Given the description of an element on the screen output the (x, y) to click on. 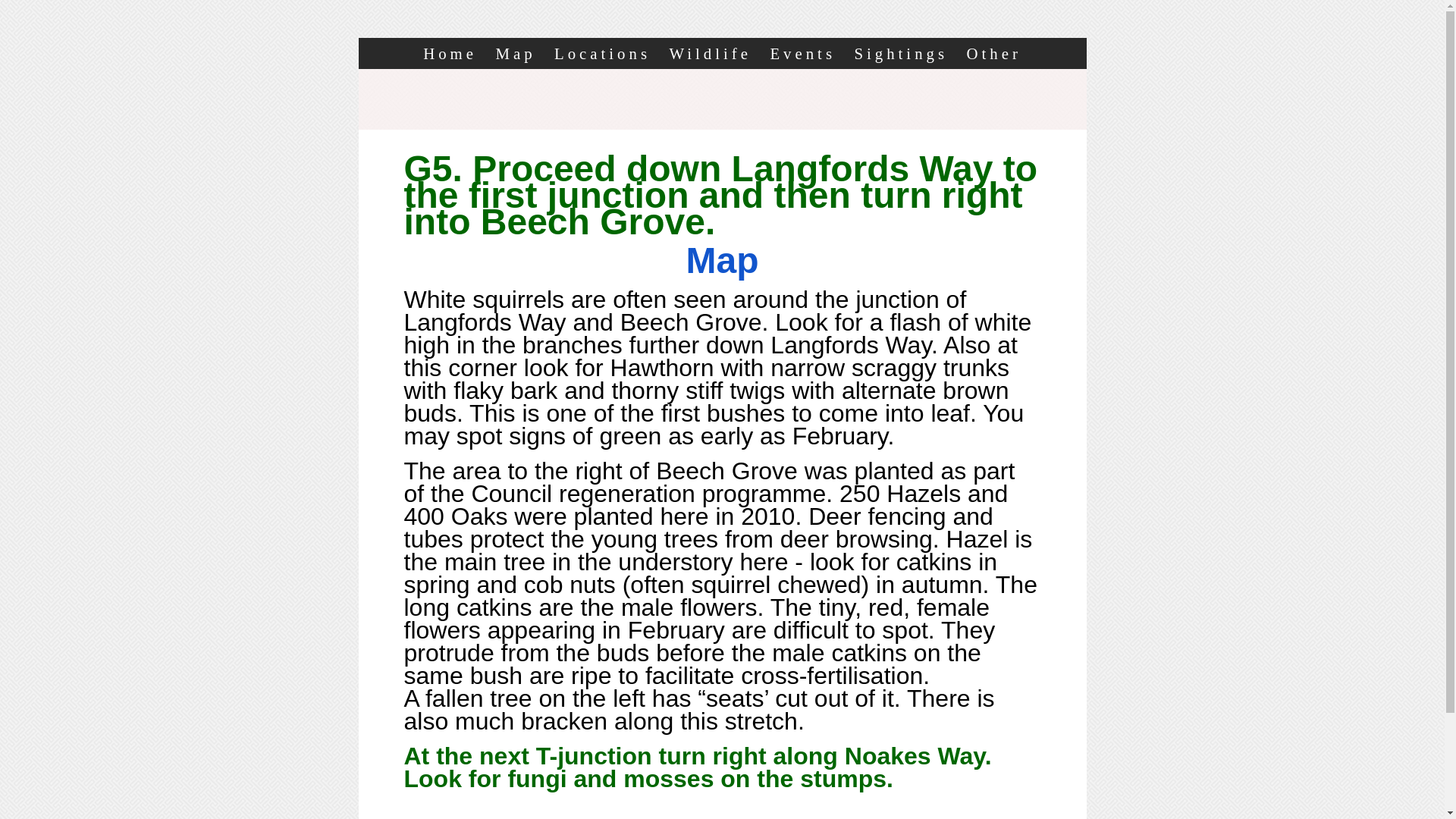
Map (515, 53)
Home (450, 53)
Events (802, 53)
Locations (602, 53)
Wildlife (709, 53)
